Given the description of an element on the screen output the (x, y) to click on. 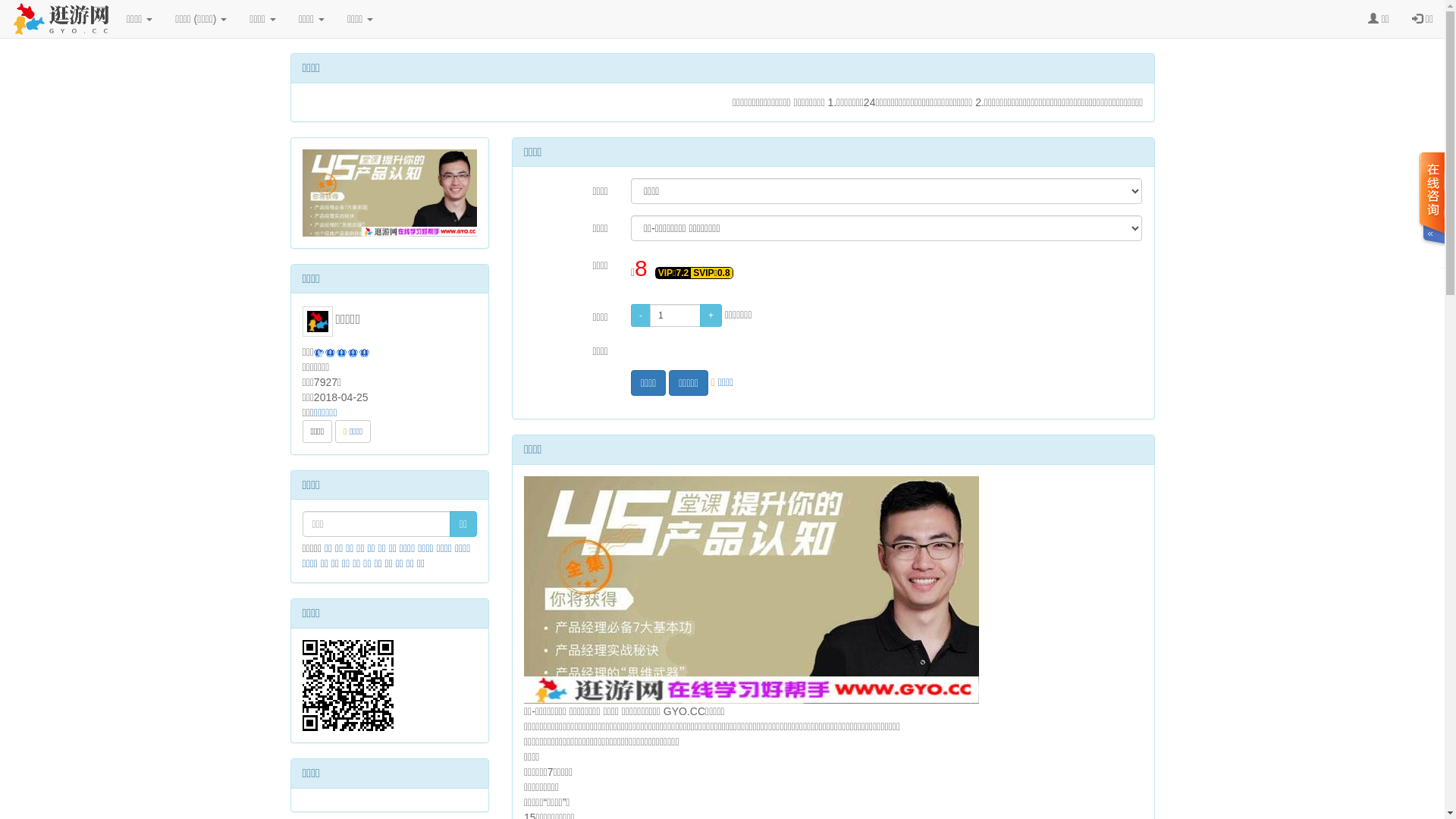
- Element type: text (640, 315)
+ Element type: text (710, 315)
  Element type: text (1430, 210)
https://gyo.cc:443/?type=productinfo&id=4127 Element type: hover (388, 685)
